Given the description of an element on the screen output the (x, y) to click on. 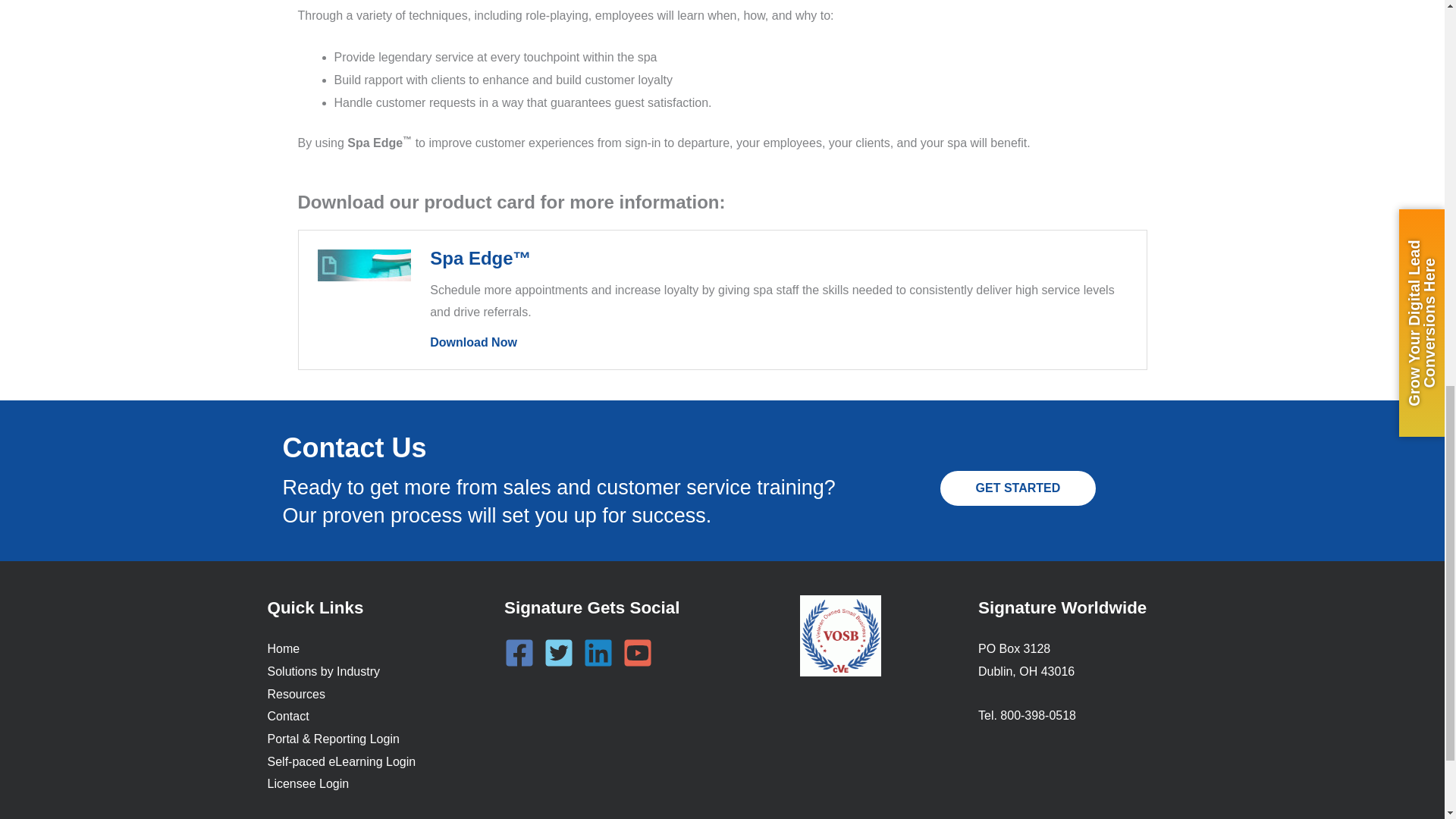
spa-edge-icon (363, 265)
